Given the description of an element on the screen output the (x, y) to click on. 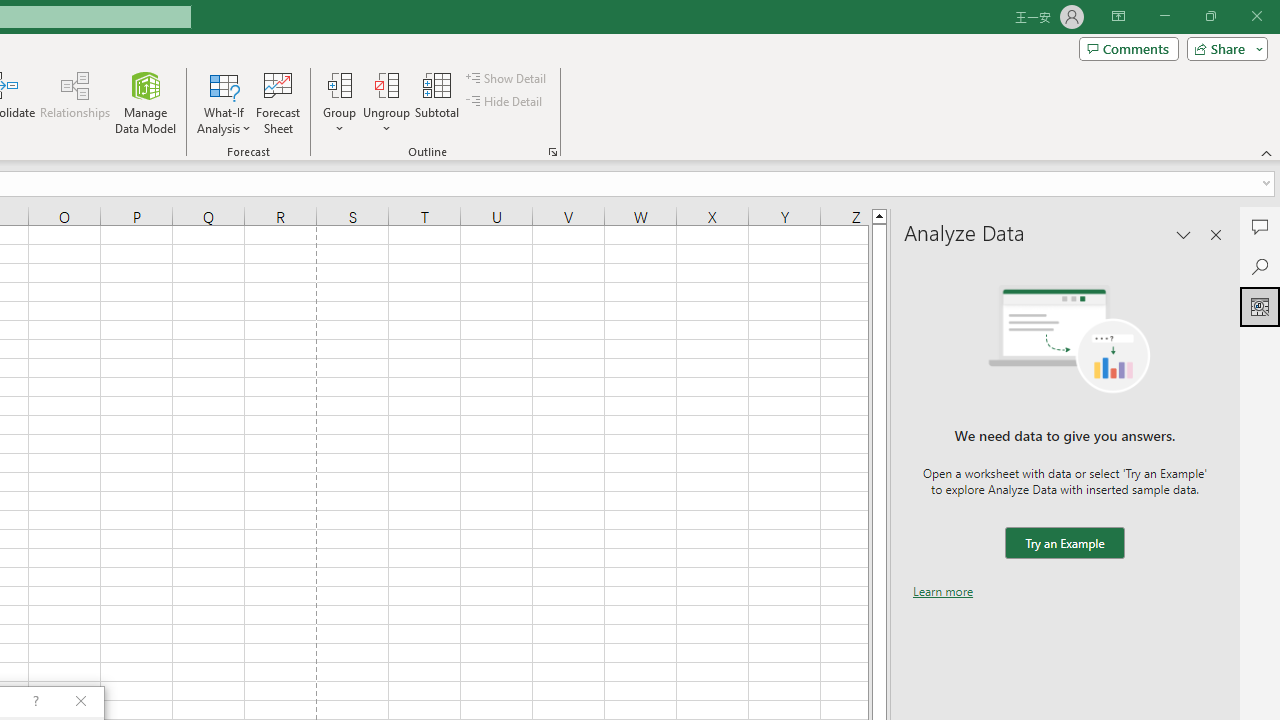
We need data to give you answers. Try an Example (1064, 543)
What-If Analysis (223, 102)
Hide Detail (505, 101)
Learn more (943, 591)
Forecast Sheet (278, 102)
